Given the description of an element on the screen output the (x, y) to click on. 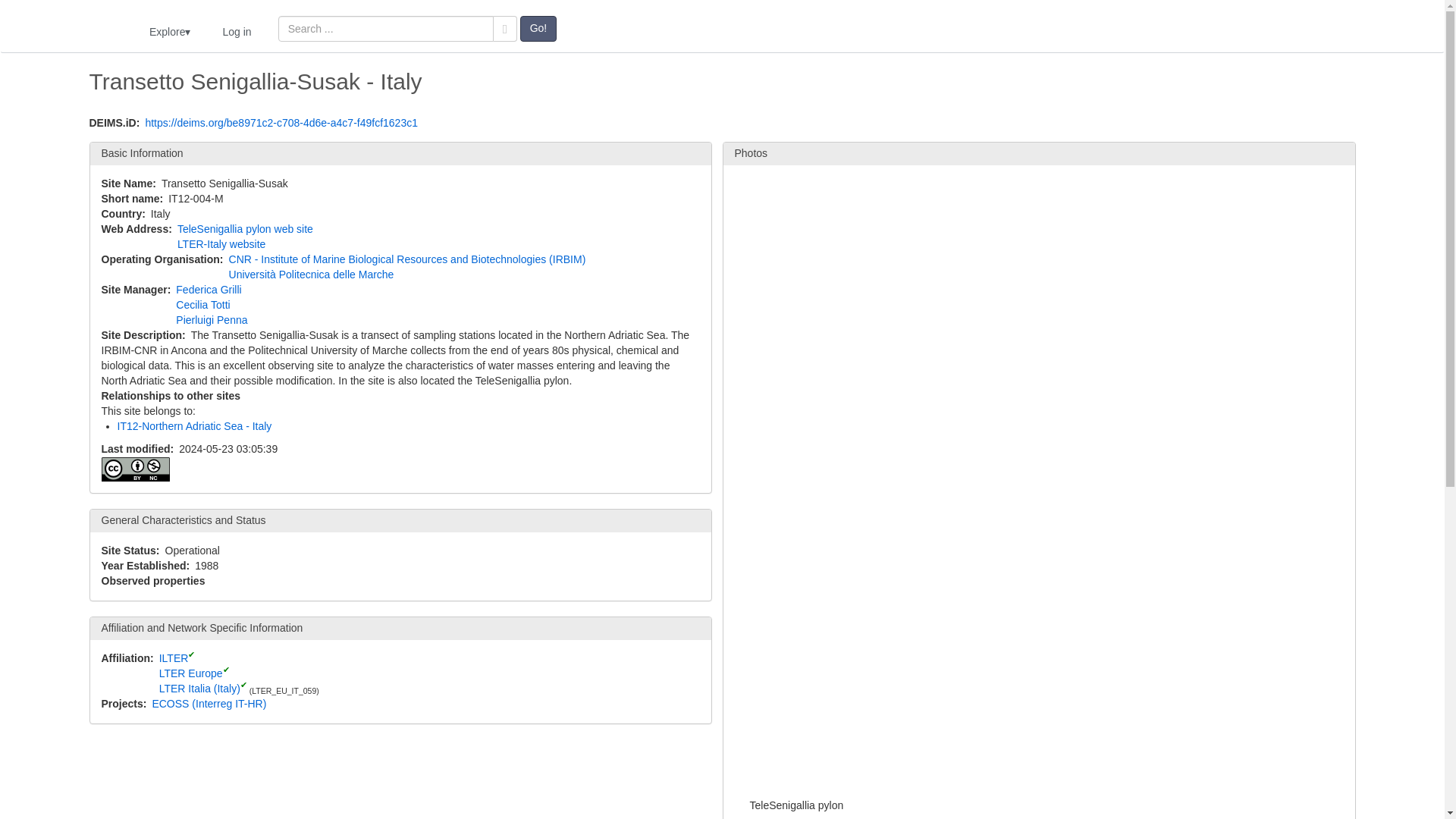
Cecilia Totti (203, 304)
ILTER (173, 657)
LTER-Italy website (220, 244)
TeleSenigallia pylon web site (245, 228)
Log in (236, 31)
Go! (538, 28)
IT12-Northern Adriatic Sea - Italy (193, 426)
LTER Europe (190, 673)
This record is licenced under CC BY-NC 4.0 (135, 469)
Federica Grilli (208, 289)
Home (72, 28)
Pierluigi Penna (211, 319)
